Given the description of an element on the screen output the (x, y) to click on. 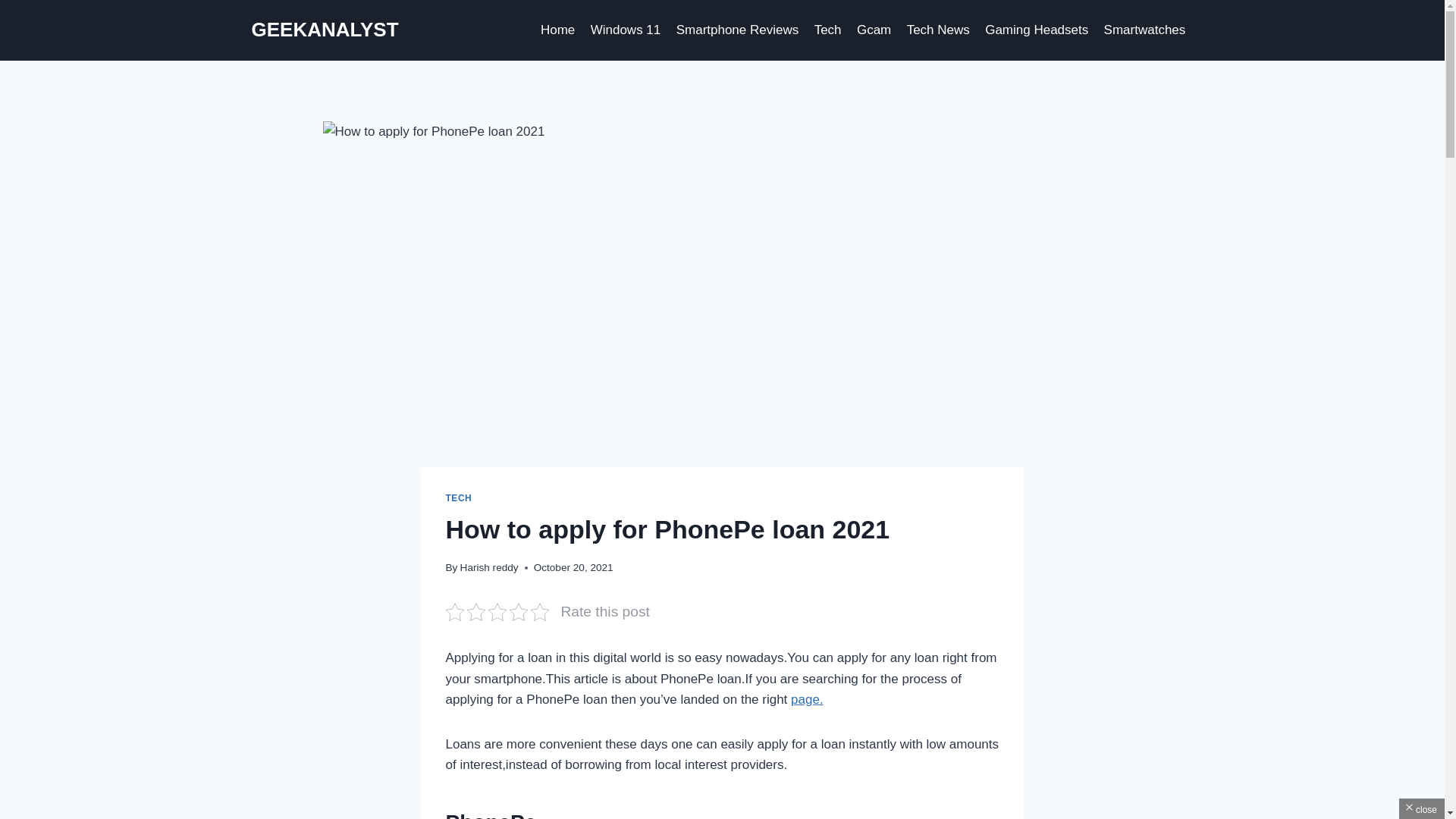
Gaming Headsets (1036, 30)
Smartwatches (1144, 30)
Gcam (873, 30)
Tech News (937, 30)
Smartphone Reviews (737, 30)
Harish reddy (489, 567)
Windows 11 (625, 30)
page. (807, 699)
Tech (827, 30)
GEEKANALYST (324, 29)
TECH (458, 498)
Home (557, 30)
